Given the description of an element on the screen output the (x, y) to click on. 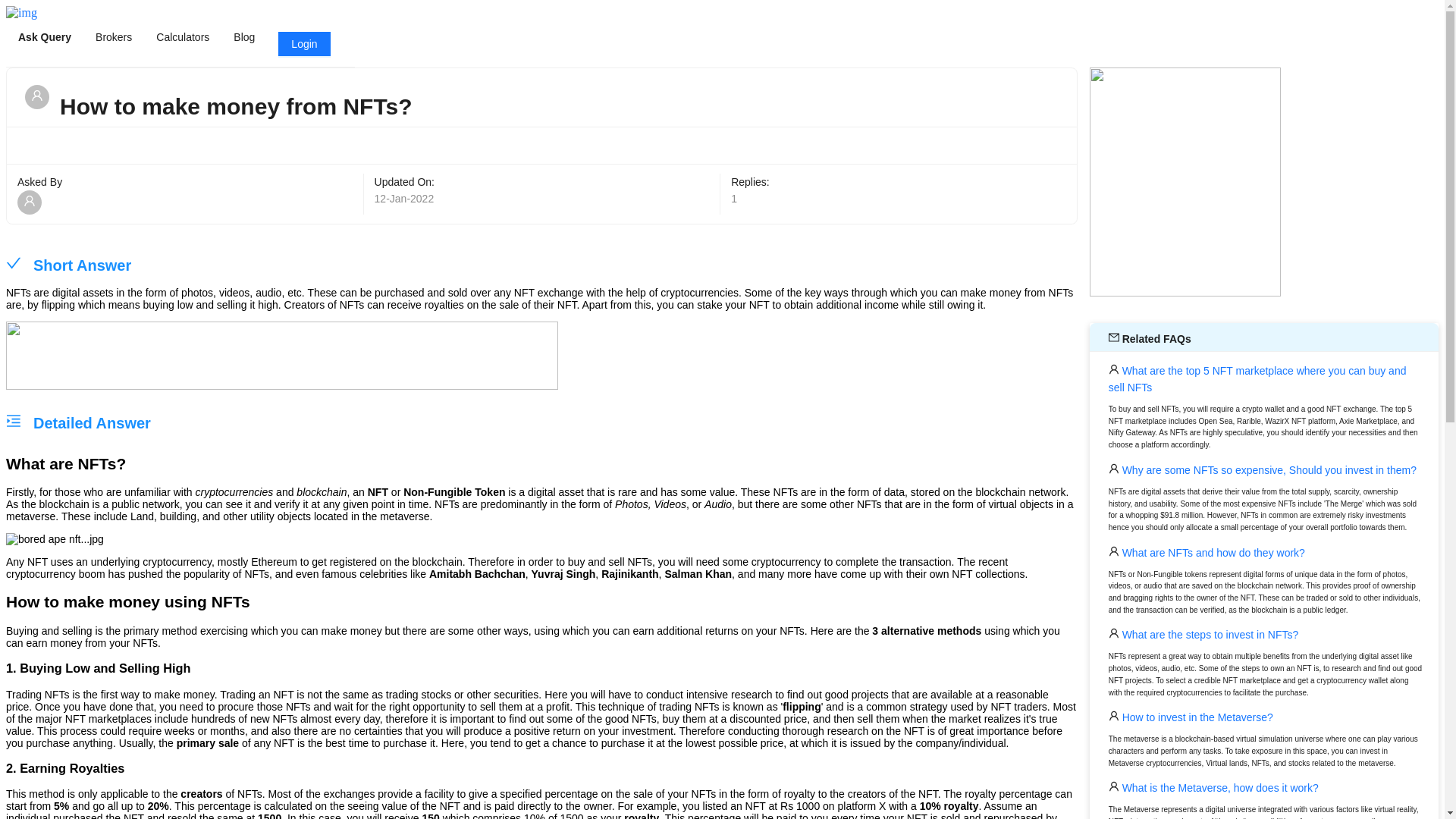
What are NFTs and how do they work? (1211, 552)
How to invest in the Metaverse? (1195, 717)
Blog (243, 37)
Ask Query (44, 37)
What are the steps to invest in NFTs? (1208, 634)
Why are some NFTs so expensive, Should you invest in them? (1267, 469)
What is the Metaverse, how does it work? (1219, 787)
